Given the description of an element on the screen output the (x, y) to click on. 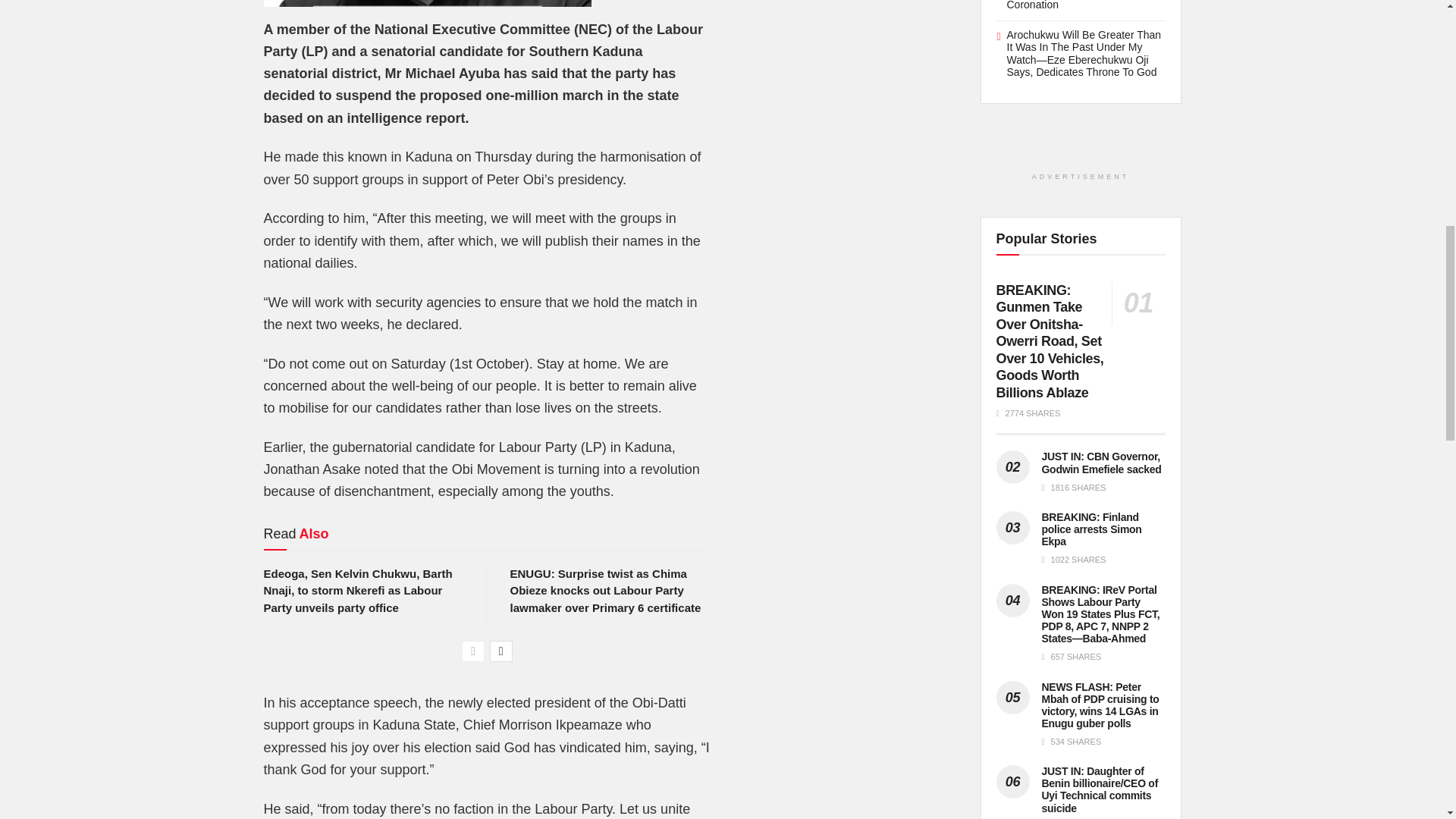
Previous (472, 650)
Next (500, 650)
